Given the description of an element on the screen output the (x, y) to click on. 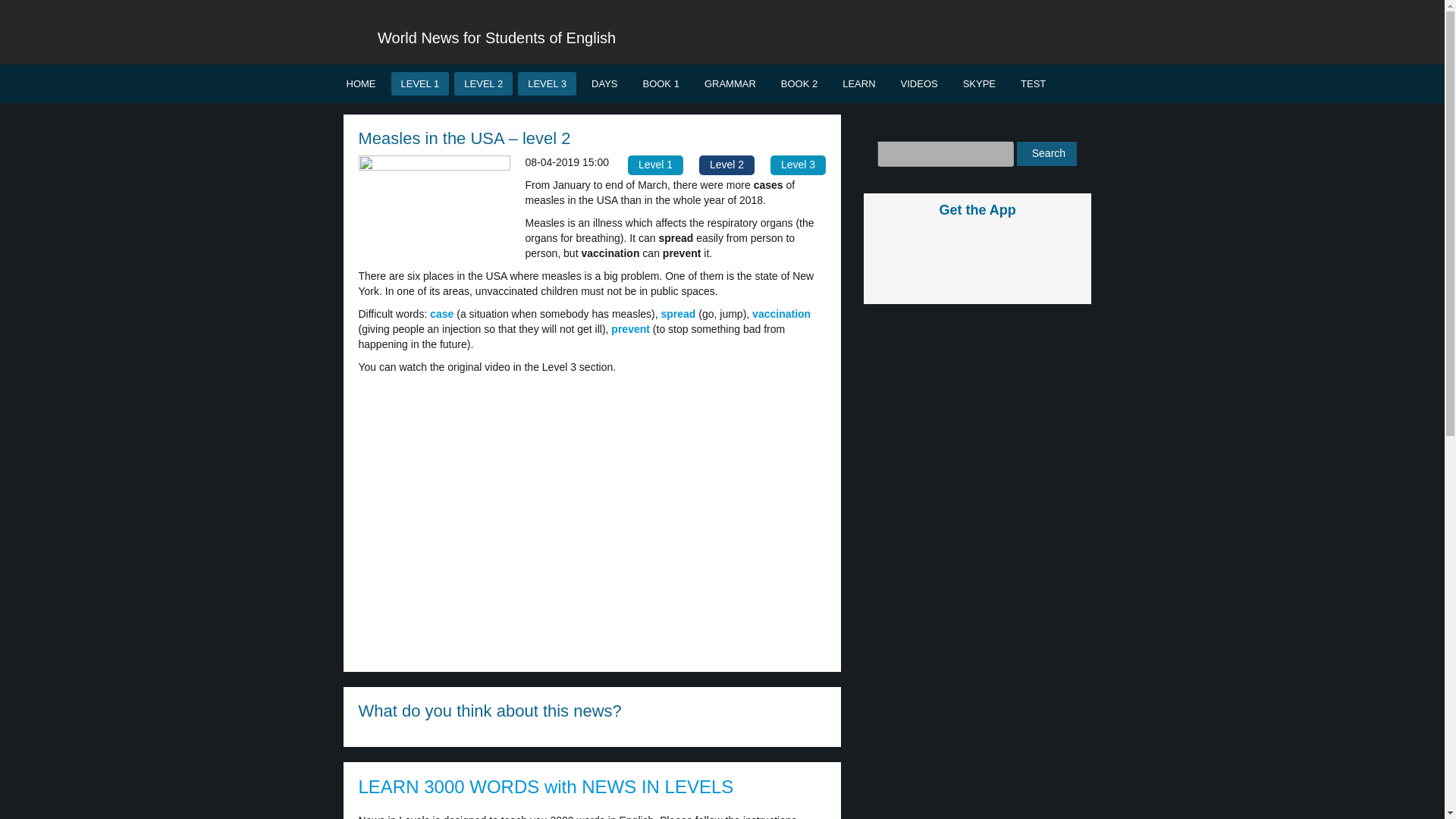
DAYS (603, 83)
Level 1 (654, 165)
BOOK 2 (799, 83)
BOOK 1 (659, 83)
VIDEOS (919, 83)
LEVEL 2 (483, 83)
SKYPE (979, 83)
LEVEL 1 (420, 83)
GRAMMAR (729, 83)
LEARN (858, 83)
